Given the description of an element on the screen output the (x, y) to click on. 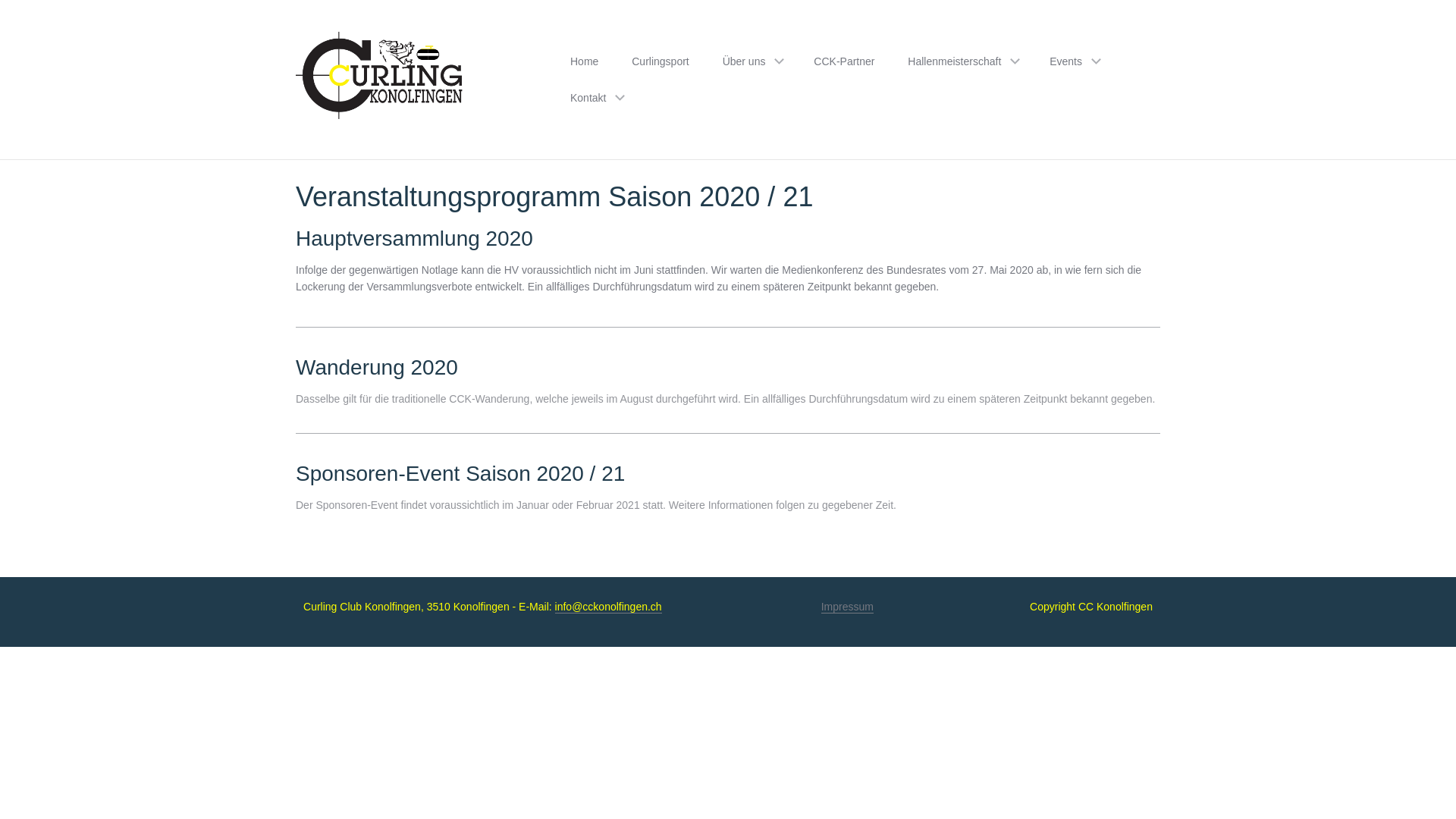
Home Element type: text (584, 61)
info@cckonolfingen.ch Element type: text (608, 606)
CCK-Partner Element type: text (843, 61)
Impressum Element type: text (847, 606)
Curlingsport Element type: text (659, 61)
